Given the description of an element on the screen output the (x, y) to click on. 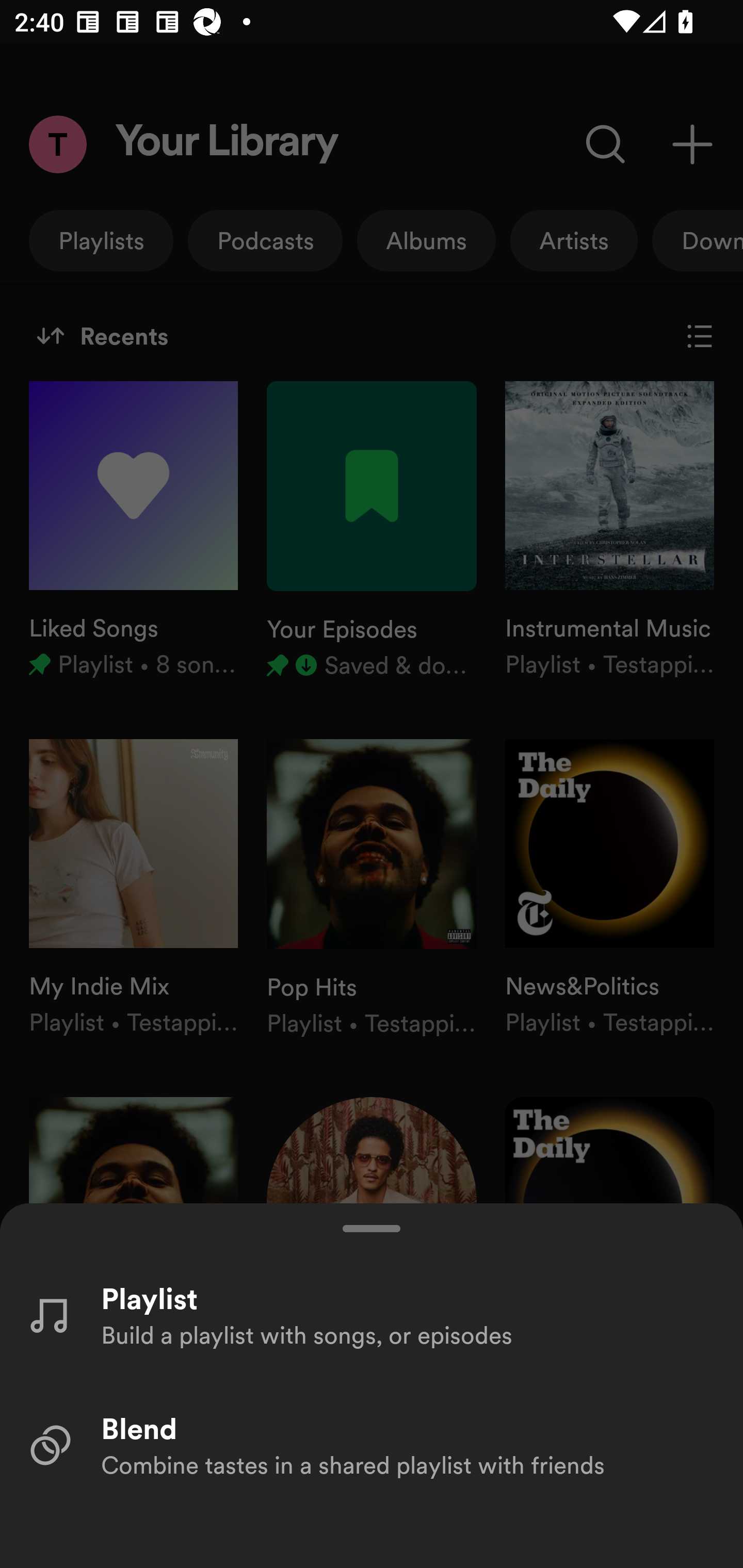
Playlist Build a playlist with songs, or episodes (371, 1314)
